Given the description of an element on the screen output the (x, y) to click on. 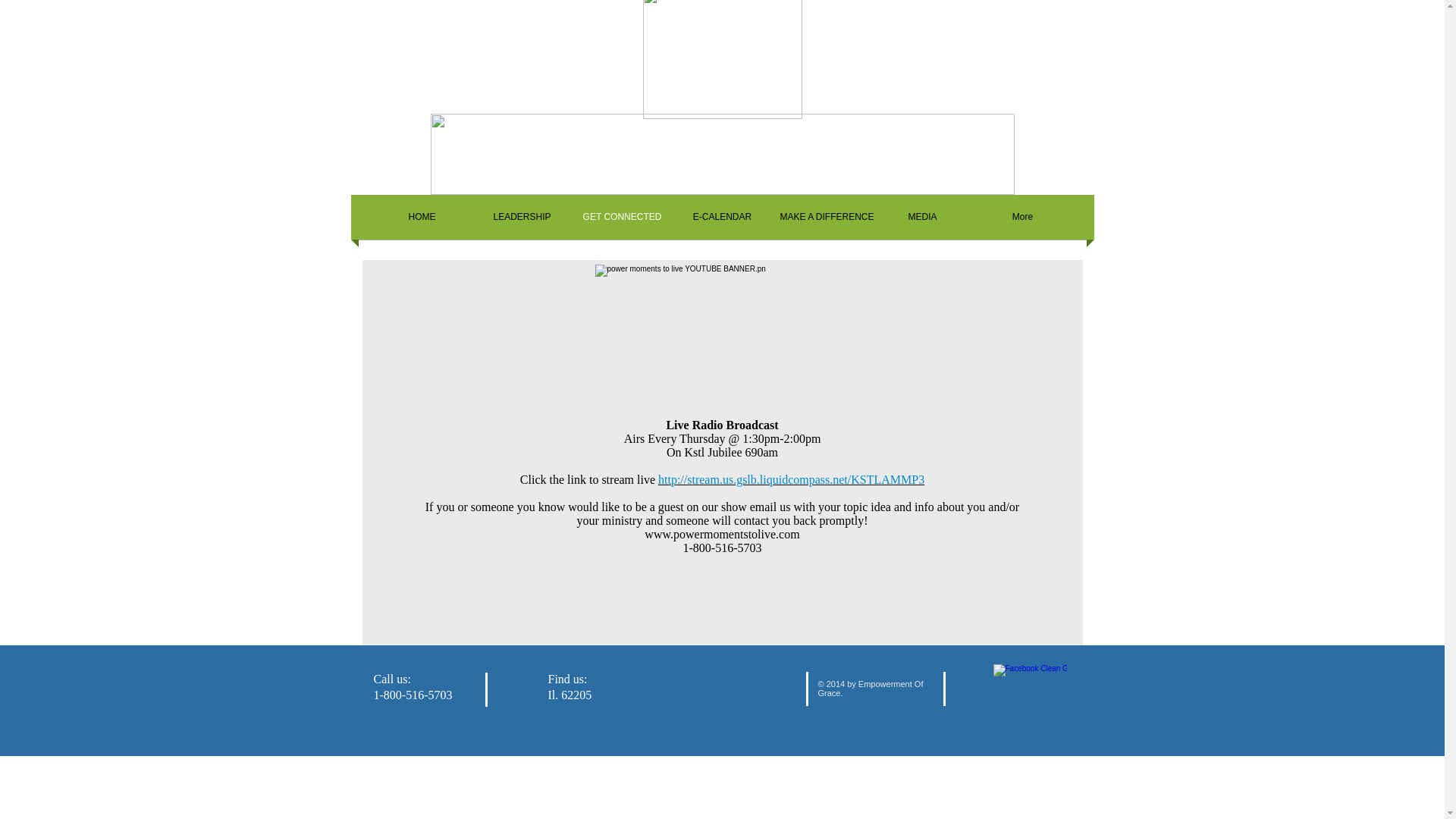
empowerment.png (722, 153)
MEDIA (922, 216)
www.powermomentstolive.com (722, 533)
E-CALENDAR (721, 216)
GET CONNECTED (621, 216)
LEADERSHIP (521, 216)
HOME (421, 216)
MAKE A DIFFERENCE (821, 216)
